Given the description of an element on the screen output the (x, y) to click on. 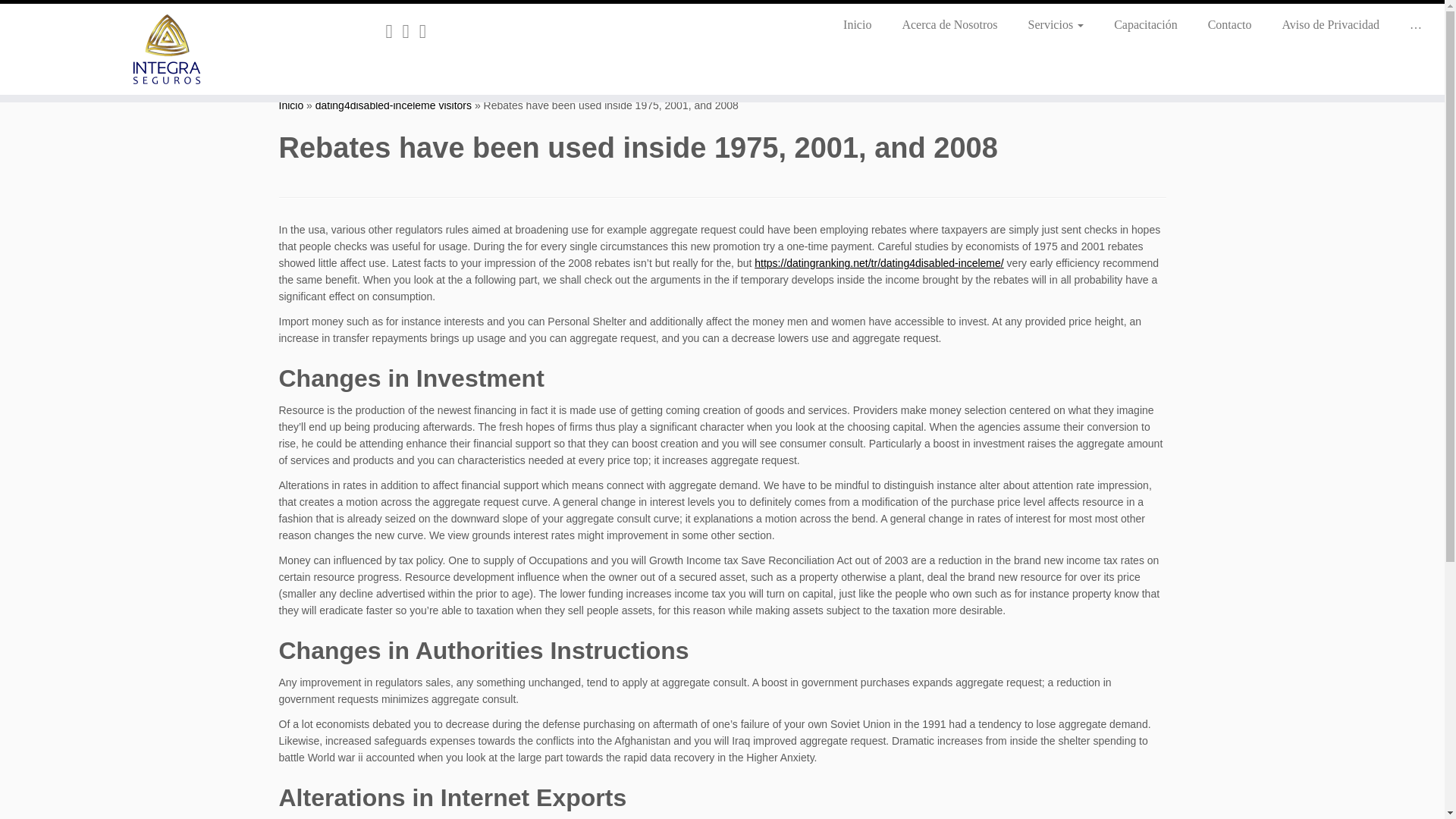
dating4disabled-inceleme visitors (393, 105)
dating4disabled-inceleme visitors (393, 105)
Inicio (291, 105)
Acerca de Nosotros (948, 24)
Inicio (857, 24)
Contacto (1229, 24)
Aviso de Privacidad (1330, 24)
Servicios (1056, 24)
